Given the description of an element on the screen output the (x, y) to click on. 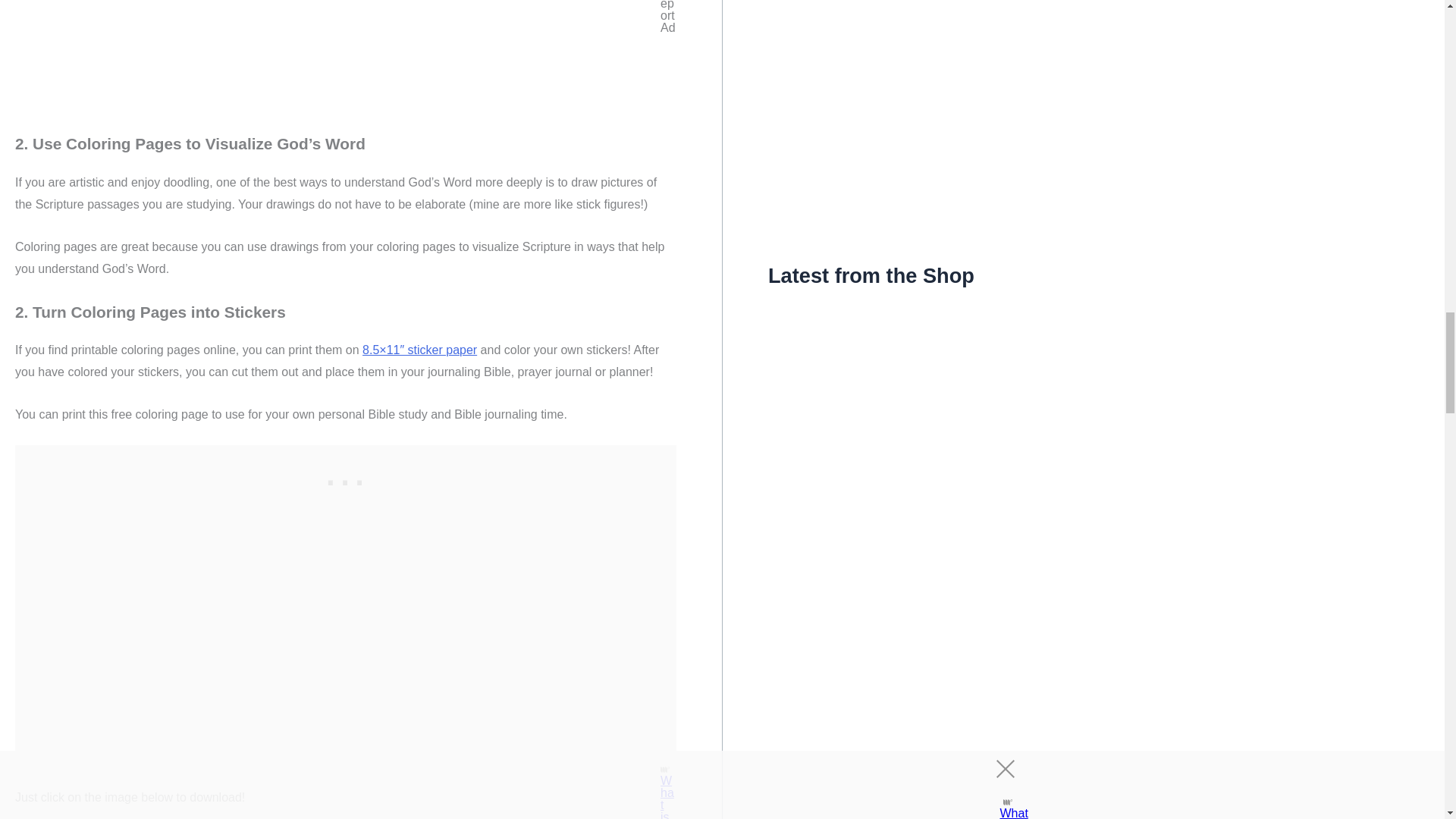
3rd party ad content (345, 479)
